Given the description of an element on the screen output the (x, y) to click on. 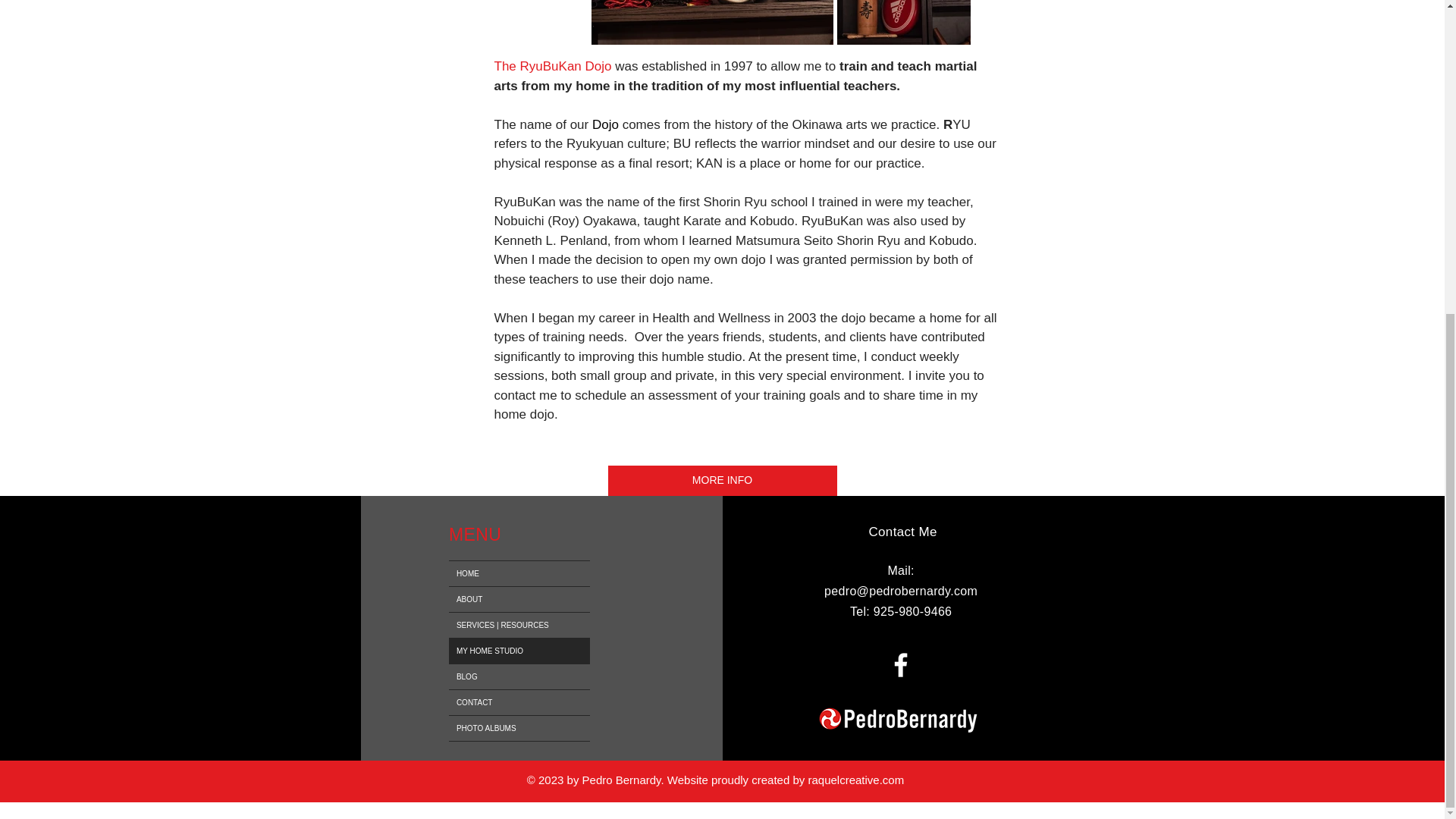
MY HOME STUDIO (518, 650)
MORE INFO (722, 481)
CONTACT (518, 702)
BLOG (518, 676)
ABOUT (518, 599)
PHOTO ALBUMS (518, 728)
HOME (518, 573)
